Given the description of an element on the screen output the (x, y) to click on. 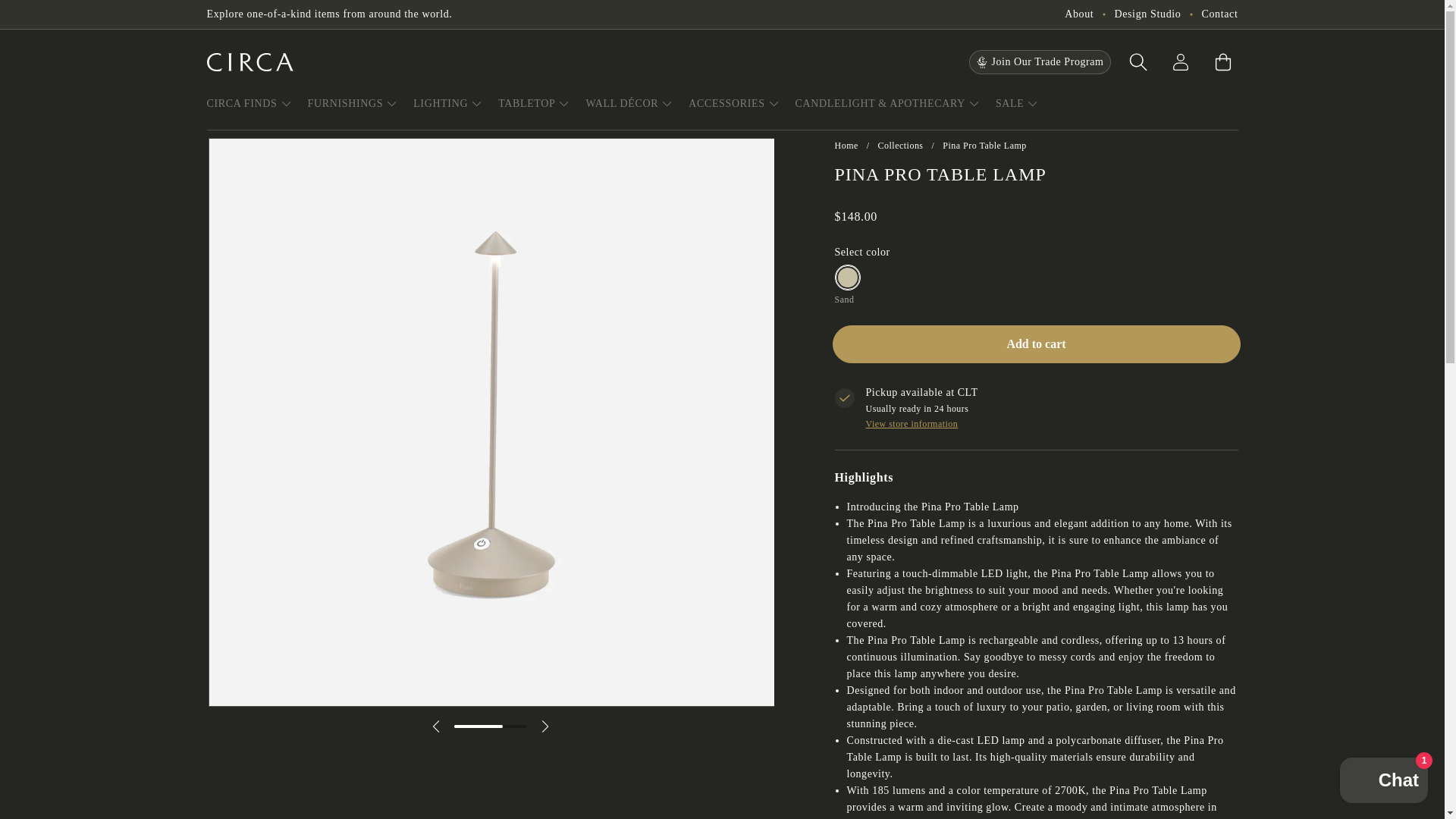
CIRCA FINDS (249, 103)
Explore one-of-a-kind items from around the world. (328, 13)
LIGHTING (448, 103)
Join Our Trade Program (1039, 61)
Contact (1219, 13)
Open cart (1222, 61)
Go to homepage (249, 62)
Open cart (1222, 61)
Design Studio (1146, 13)
Shopify online store chat (1383, 781)
About (1078, 13)
Login (1179, 61)
TABLETOP (533, 103)
FURNISHINGS (352, 103)
